Given the description of an element on the screen output the (x, y) to click on. 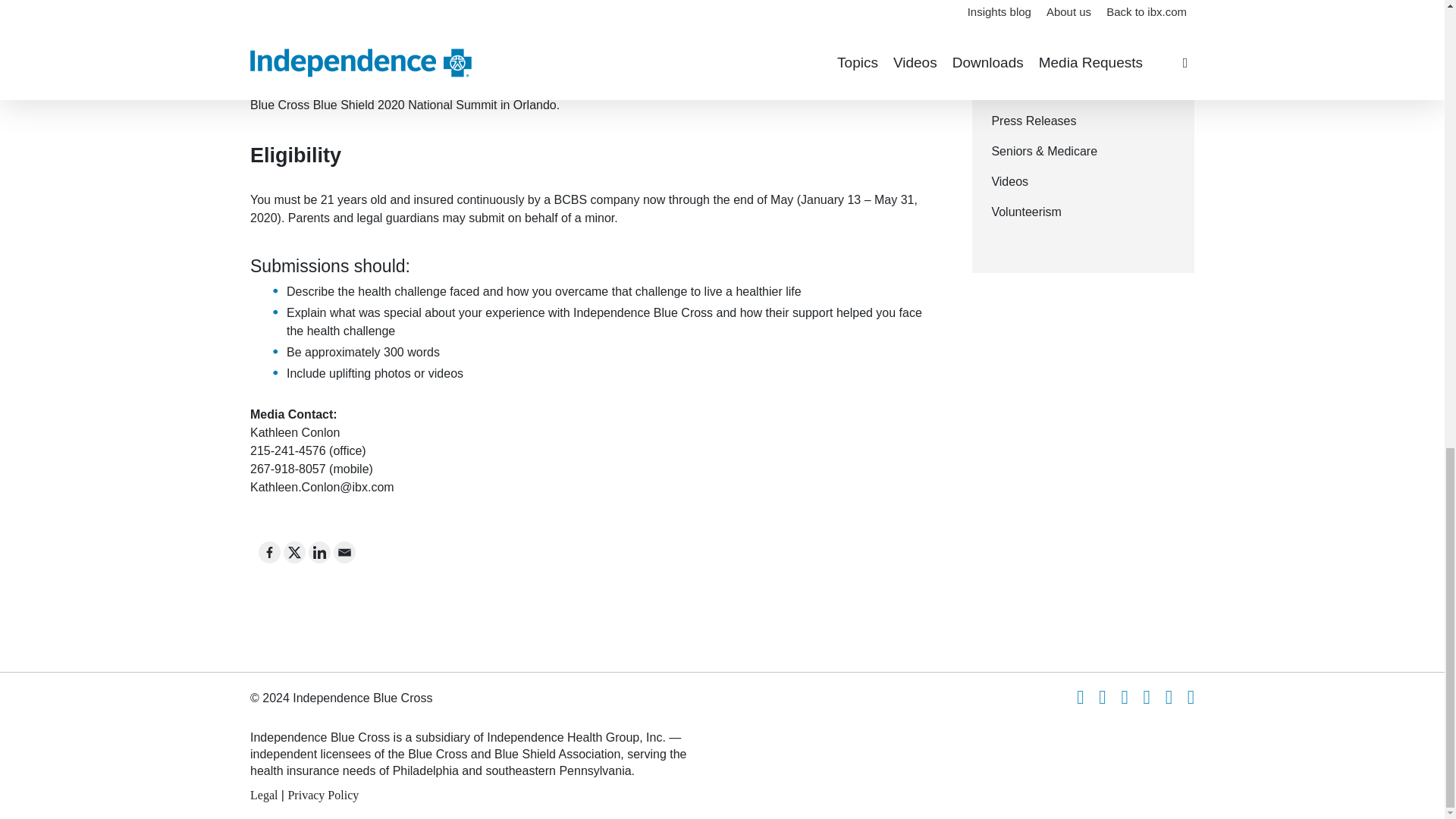
X (294, 552)
Email (344, 552)
Facebook (270, 552)
Linkedin (319, 552)
